Given the description of an element on the screen output the (x, y) to click on. 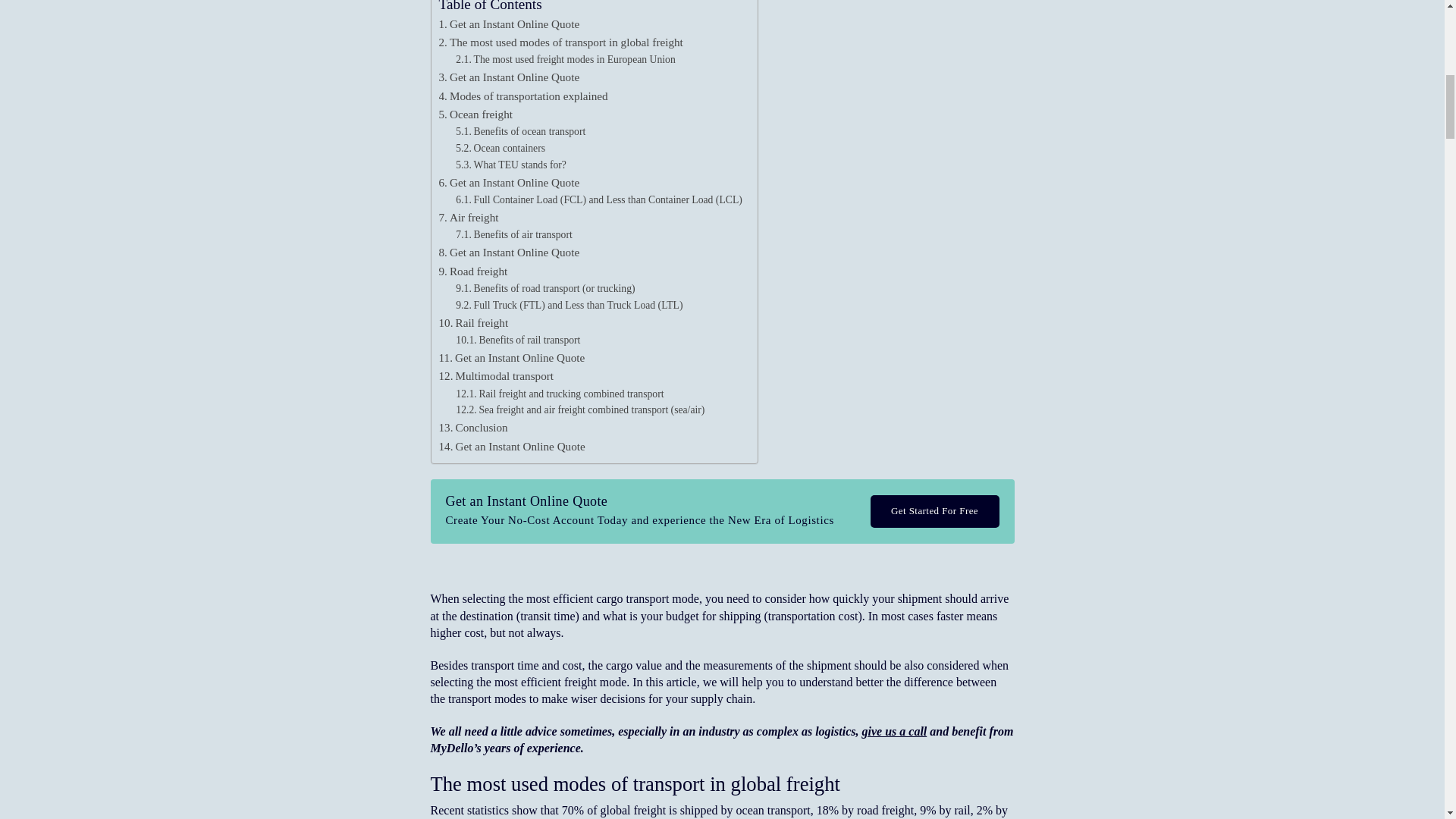
The most used modes of transport in global freight (560, 42)
Road freight (472, 271)
Benefits of rail transport (517, 340)
Air freight (467, 217)
Get an Instant Online Quote (508, 24)
Ocean containers (499, 148)
Get an Instant Online Quote (508, 76)
Modes of transportation explained (522, 95)
What TEU stands for? (510, 165)
Get an Instant Online Quote (508, 182)
Get an Instant Online Quote (508, 252)
Benefits of air transport (513, 234)
Ocean freight (475, 114)
Benefits of ocean transport (520, 131)
The most used freight modes in European Union (565, 59)
